Given the description of an element on the screen output the (x, y) to click on. 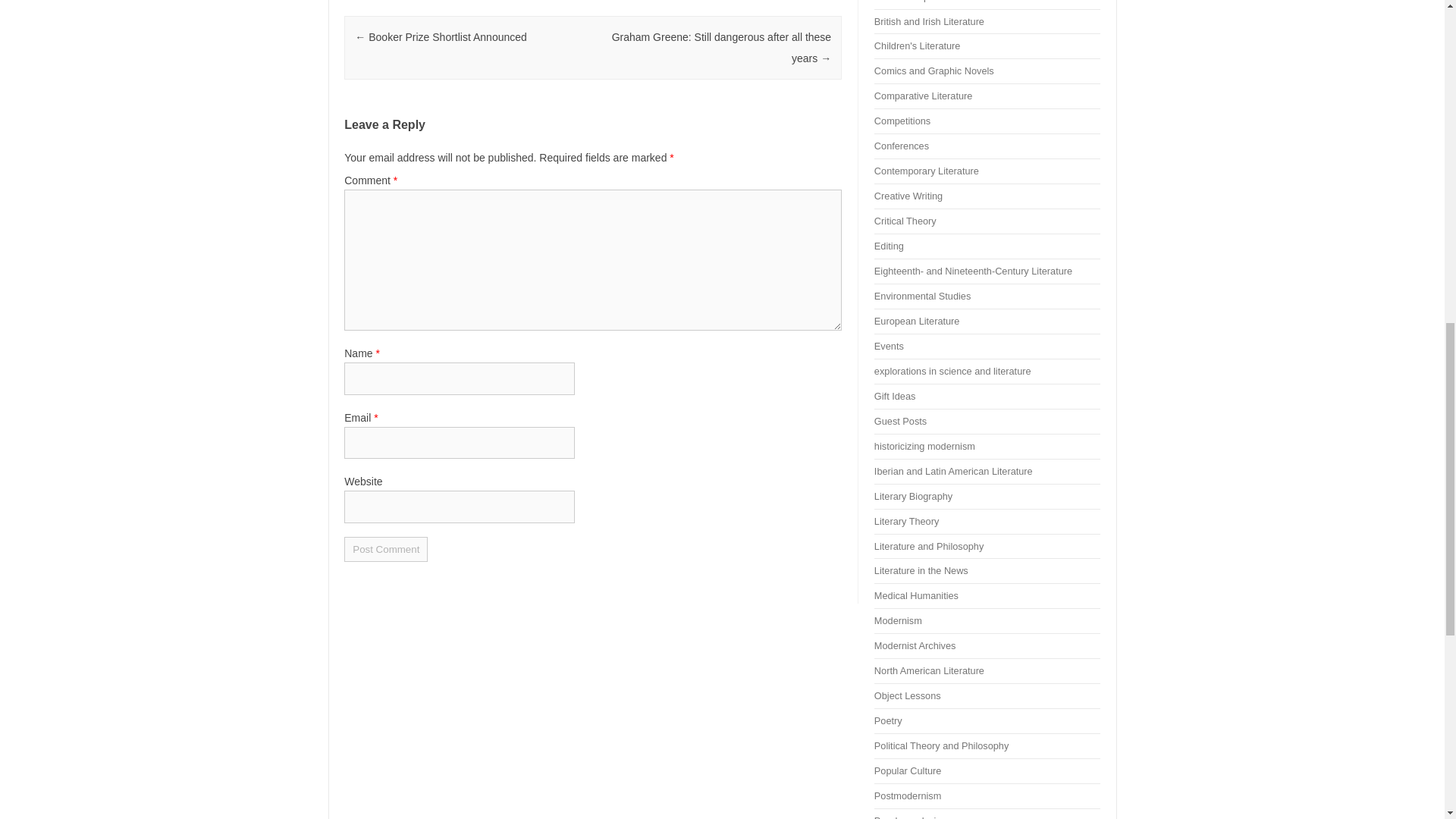
Children's Literature (917, 45)
Comics and Graphic Novels (934, 70)
Post Comment (385, 549)
Book Excerpts (905, 1)
British and Irish Literature (929, 20)
Post Comment (385, 549)
